Given the description of an element on the screen output the (x, y) to click on. 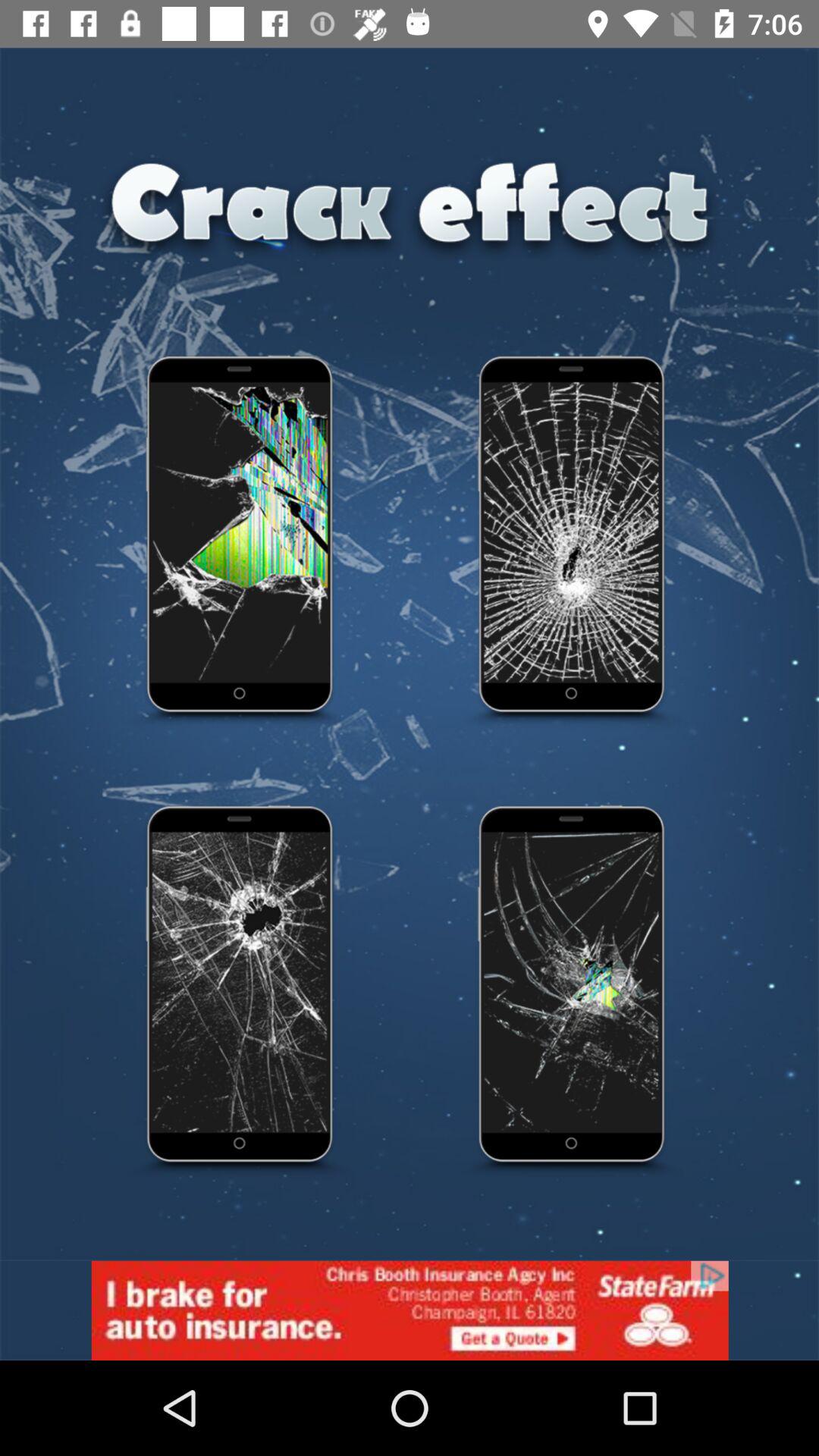
select crack effect option (572, 542)
